Given the description of an element on the screen output the (x, y) to click on. 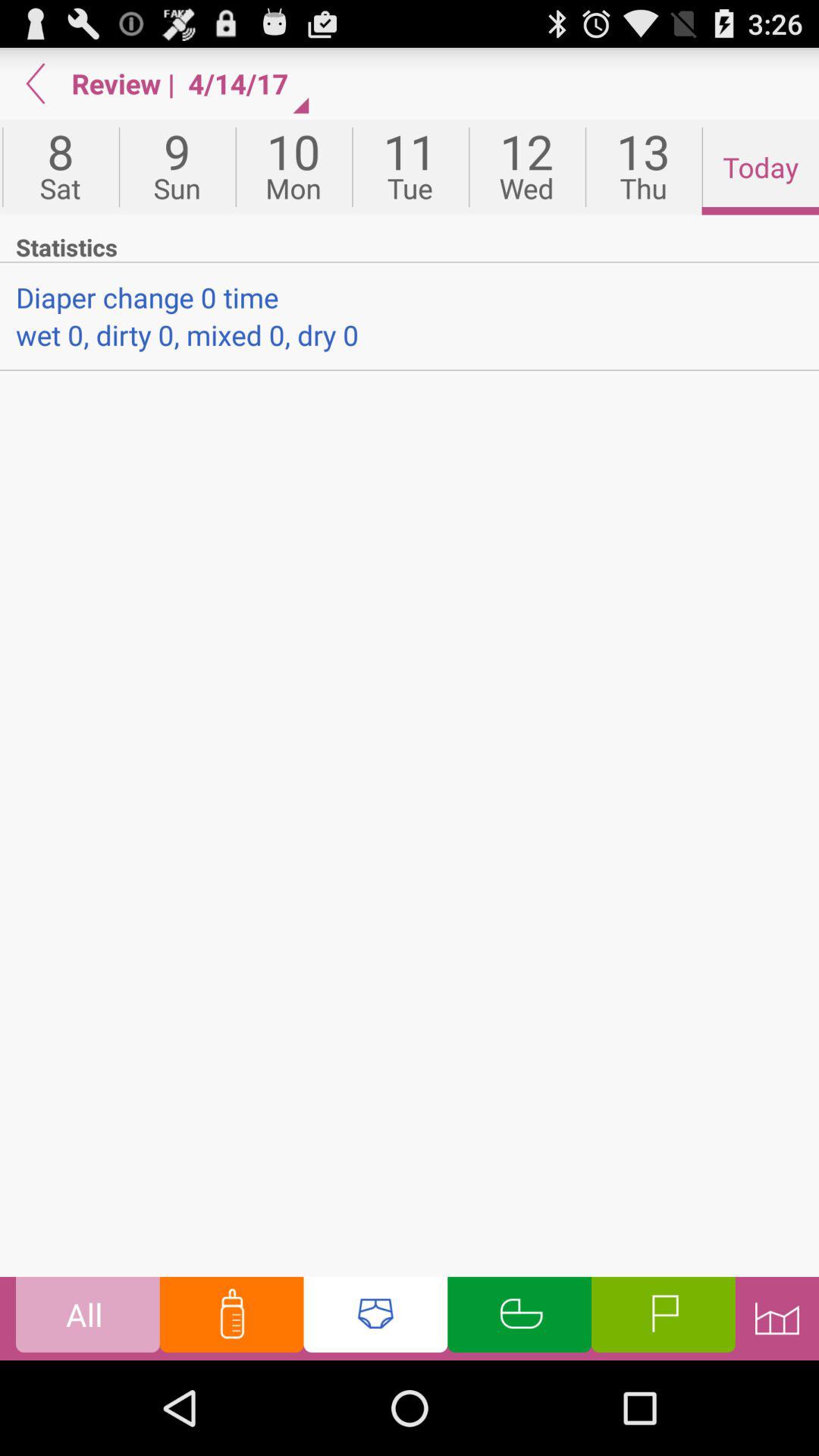
select icon next to review app (35, 83)
